Given the description of an element on the screen output the (x, y) to click on. 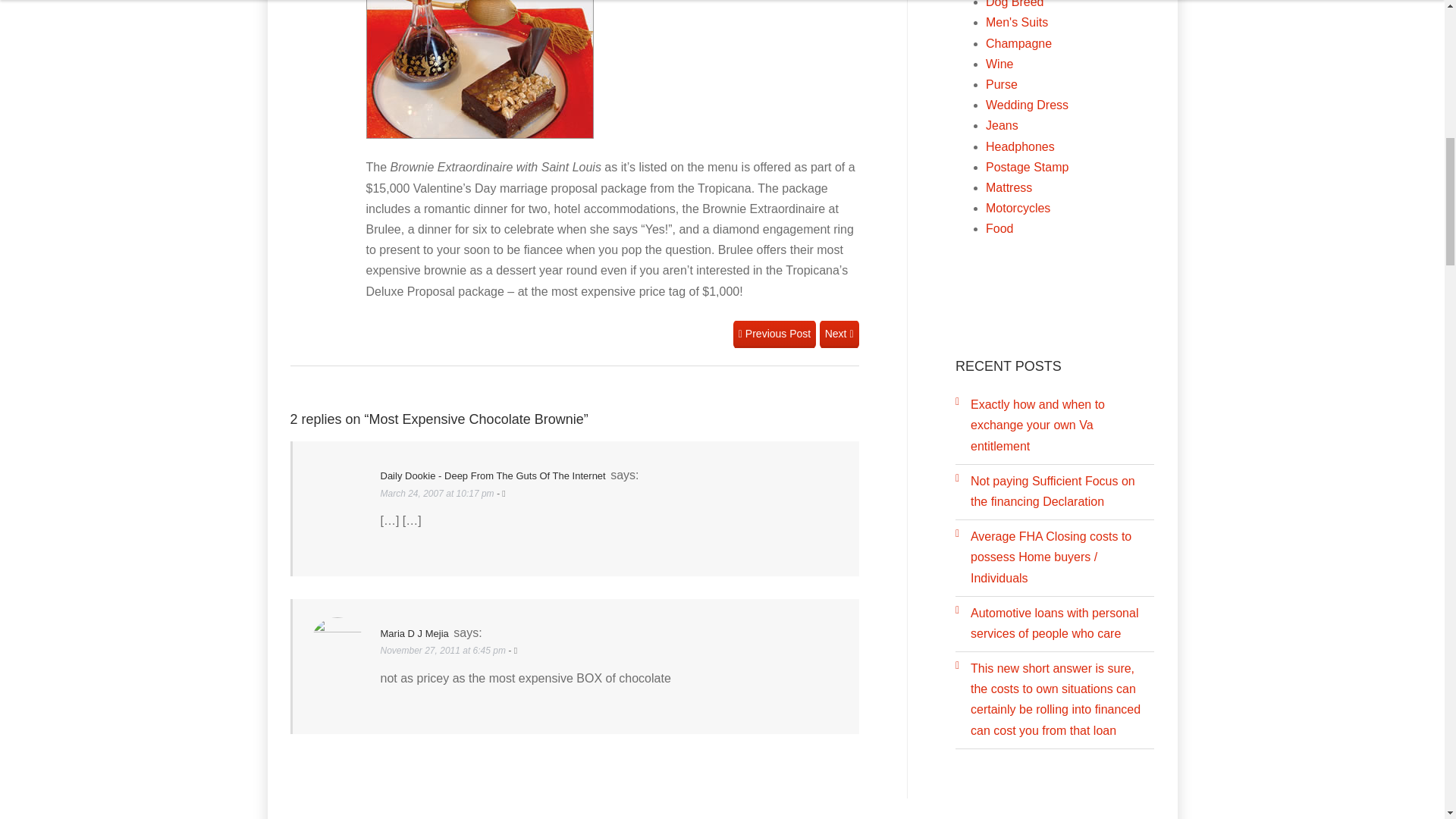
Next (839, 334)
November 27, 2011 at 6:45 pm (444, 650)
March 24, 2007 at 10:17 pm (438, 493)
March 24, 2007 at 10:17 pm (438, 493)
November 27, 2011 at 6:45 pm (444, 650)
Previous Post (774, 334)
